Given the description of an element on the screen output the (x, y) to click on. 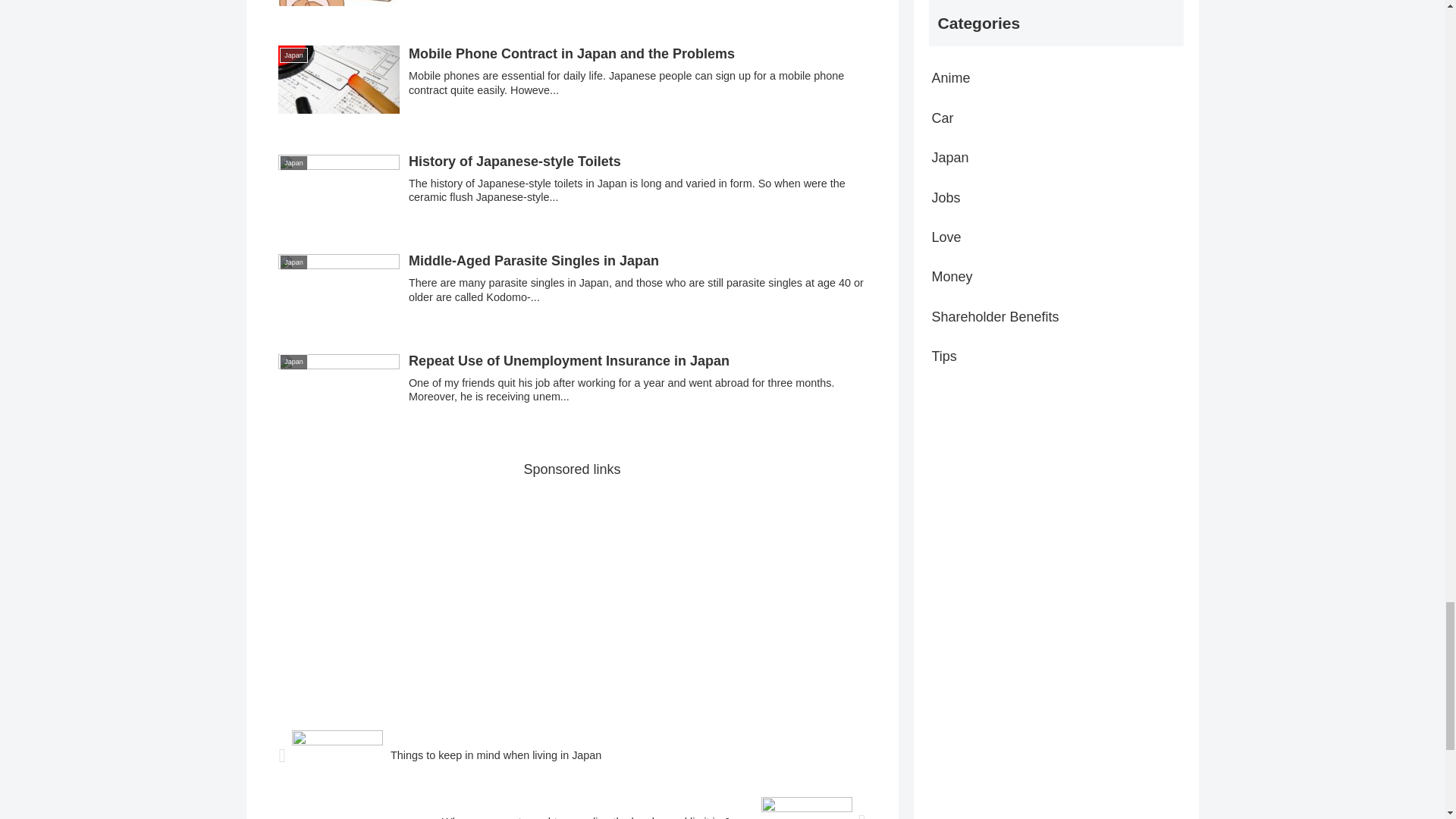
Middle-Aged Parasite Singles in Japan (571, 285)
History of Japanese-style Toilets (571, 185)
Things to keep in mind when living in Japan (571, 755)
How to Buy Lottery Tickets in Japan (571, 11)
Repeat Use of Unemployment Insurance in Japan (571, 385)
Mobile Phone Contract in Japan and the Problems (571, 82)
Things to keep in mind when living in Japan (571, 755)
